Given the description of an element on the screen output the (x, y) to click on. 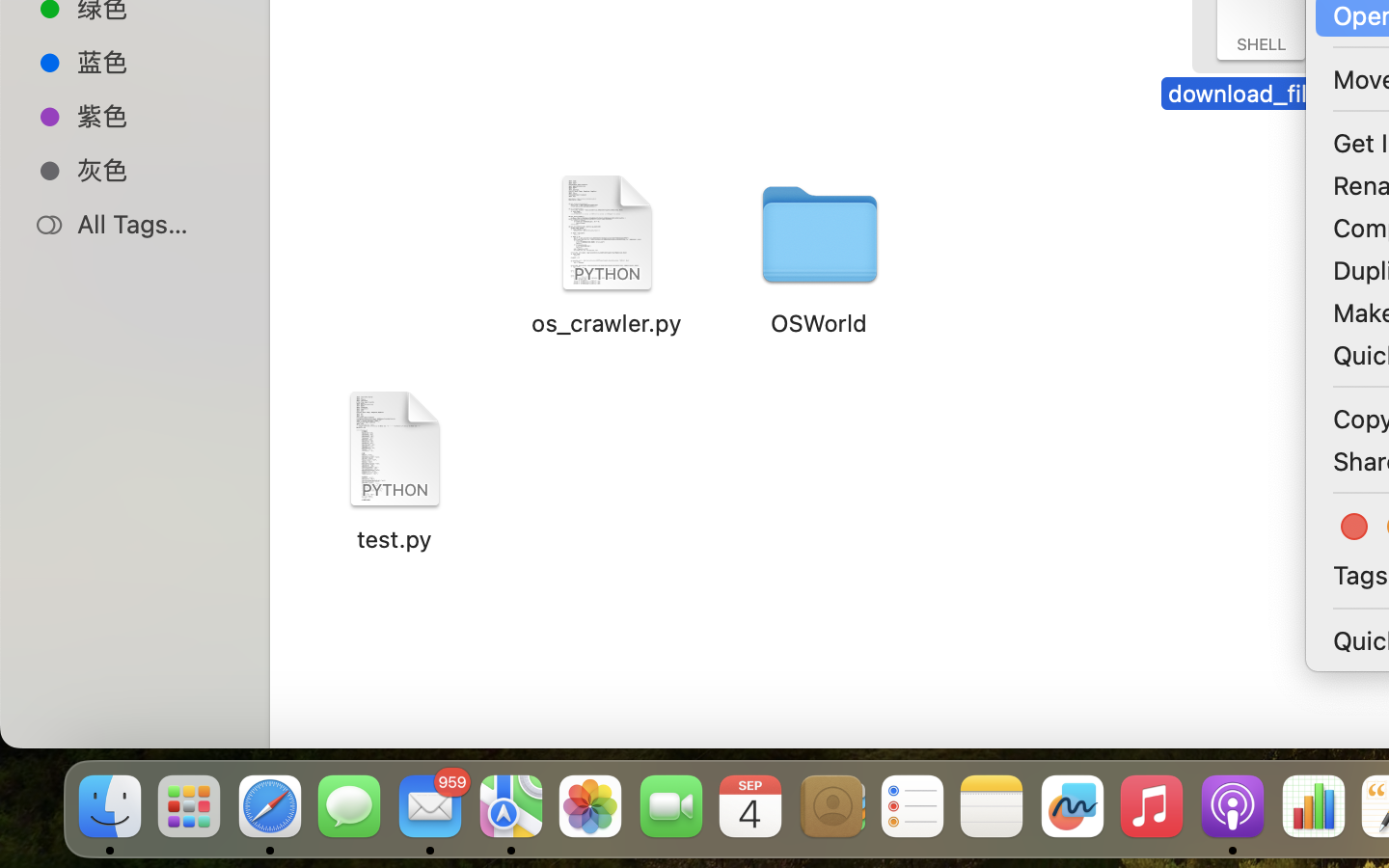
紫色 Element type: AXStaticText (155, 115)
蓝色 Element type: AXStaticText (155, 61)
0 Element type: AXRadioButton (1356, 526)
All Tags… Element type: AXStaticText (155, 223)
灰色 Element type: AXStaticText (155, 169)
